Given the description of an element on the screen output the (x, y) to click on. 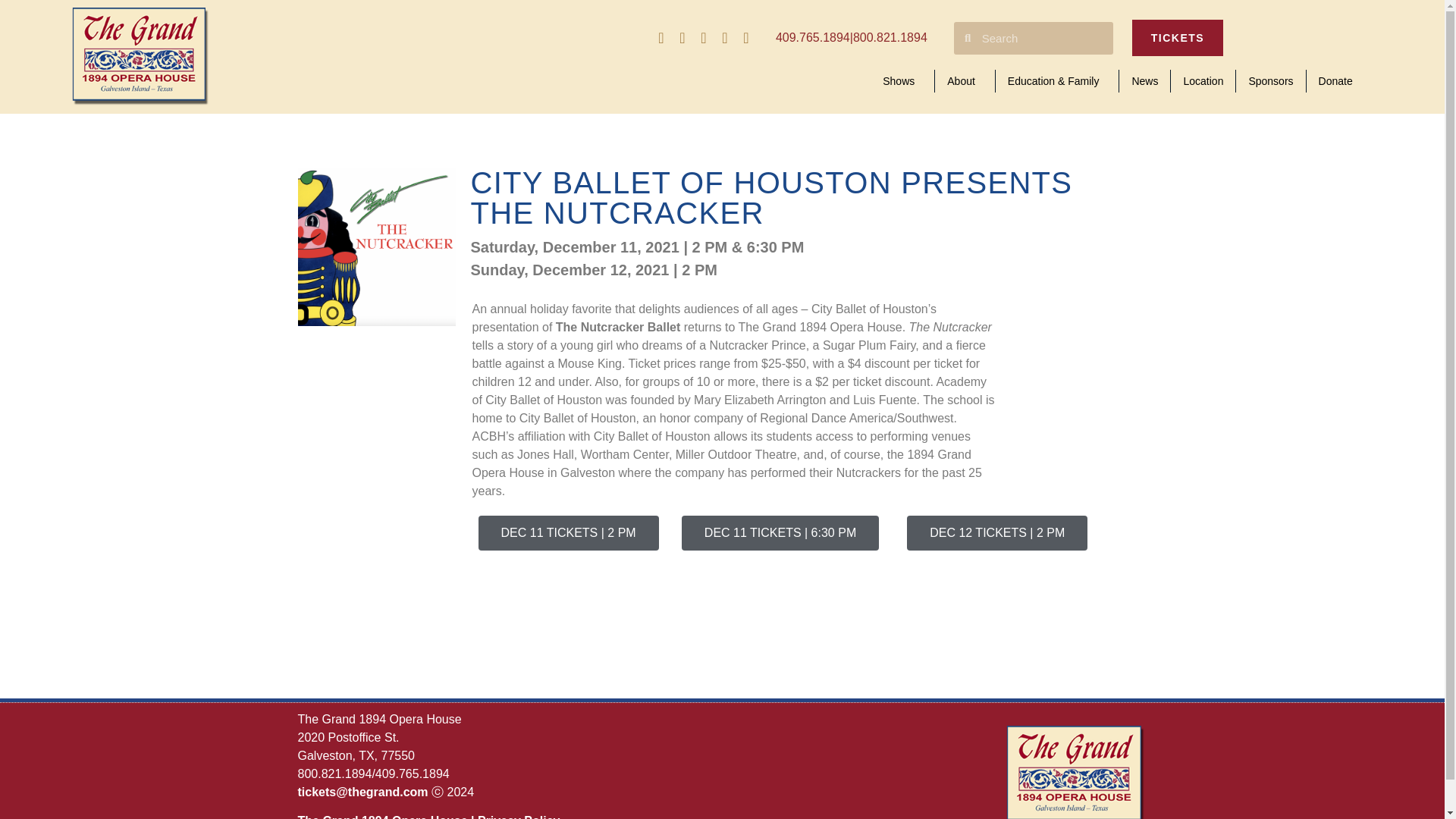
Sponsors (1271, 80)
800.821.1894 (890, 37)
Donate (1339, 80)
Shows (902, 80)
Location (1203, 80)
Search (1041, 38)
About (964, 80)
409.765.1894 (813, 37)
News (1144, 80)
TICKETS (1178, 37)
